Given the description of an element on the screen output the (x, y) to click on. 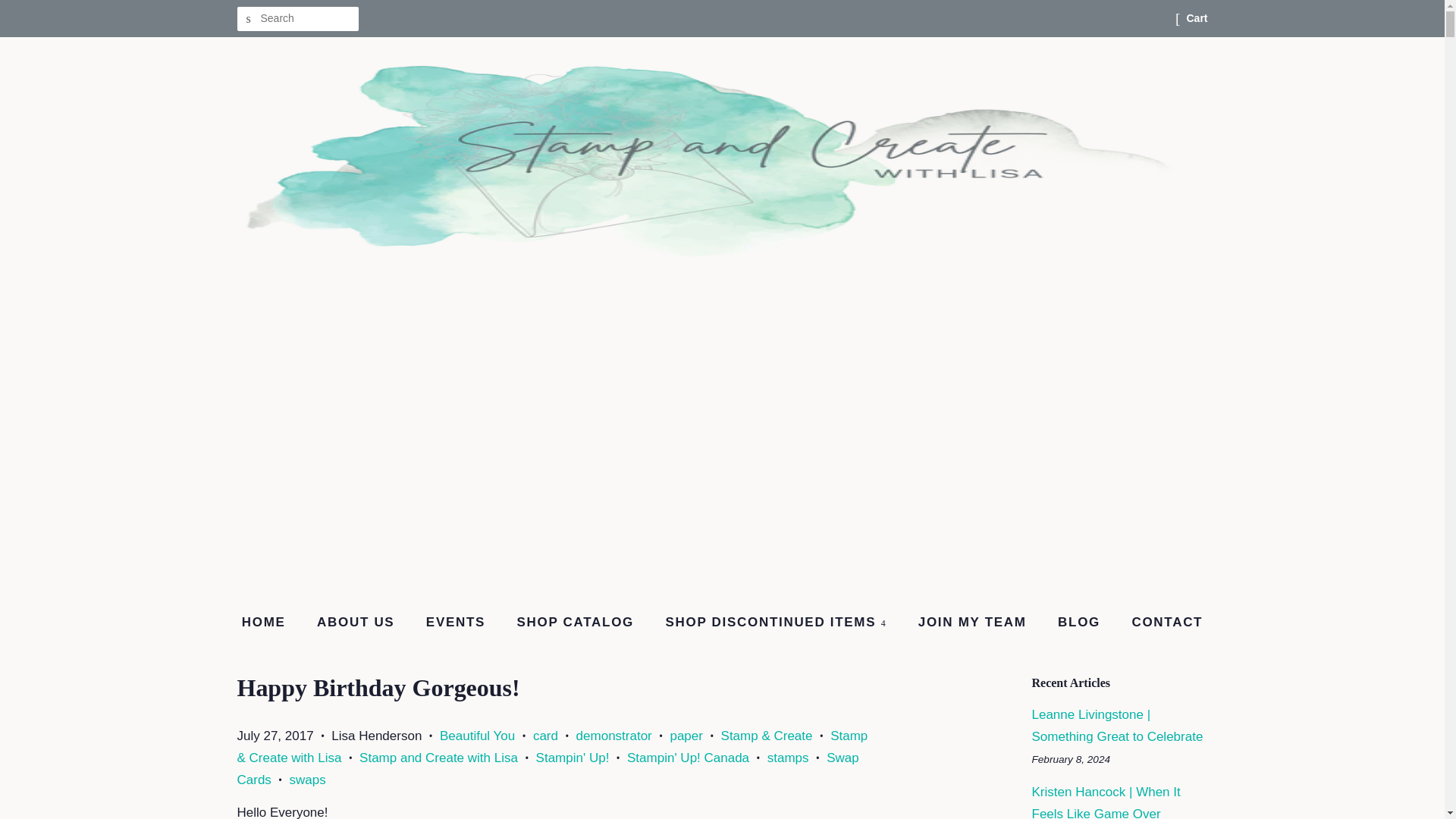
JOIN MY TEAM (974, 622)
Beautiful You (477, 735)
SHOP DISCONTINUED ITEMS (777, 622)
card (544, 735)
ABOUT US (357, 622)
EVENTS (457, 622)
SHOP CATALOG (577, 622)
SEARCH (247, 18)
HOME (271, 622)
CONTACT (1160, 622)
BLOG (1080, 622)
Cart (1196, 18)
